Given the description of an element on the screen output the (x, y) to click on. 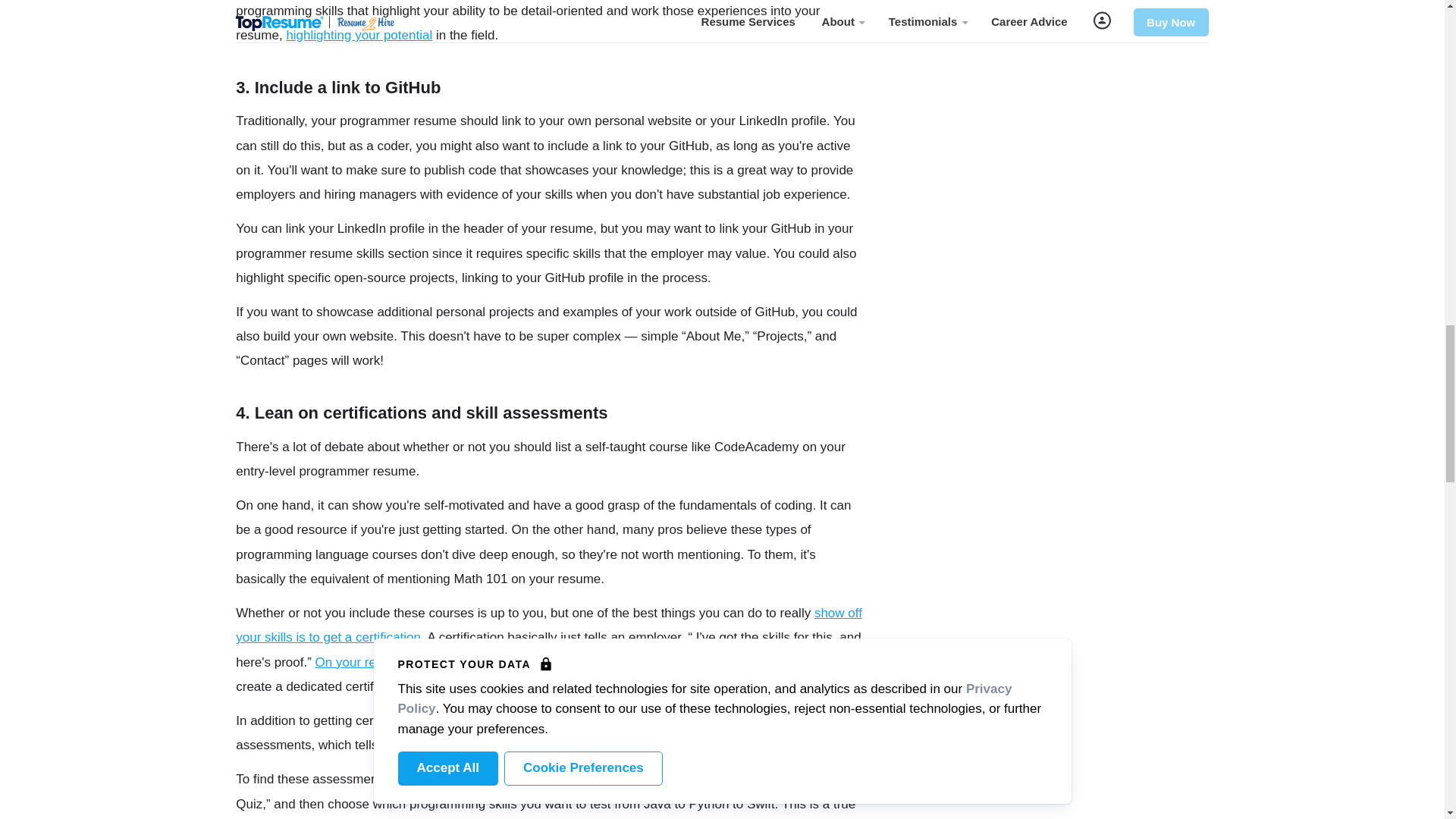
show off your skills is to get a certification (548, 625)
On your resume, you can highlight your certifications (465, 662)
highlighting your potential (358, 34)
